Given the description of an element on the screen output the (x, y) to click on. 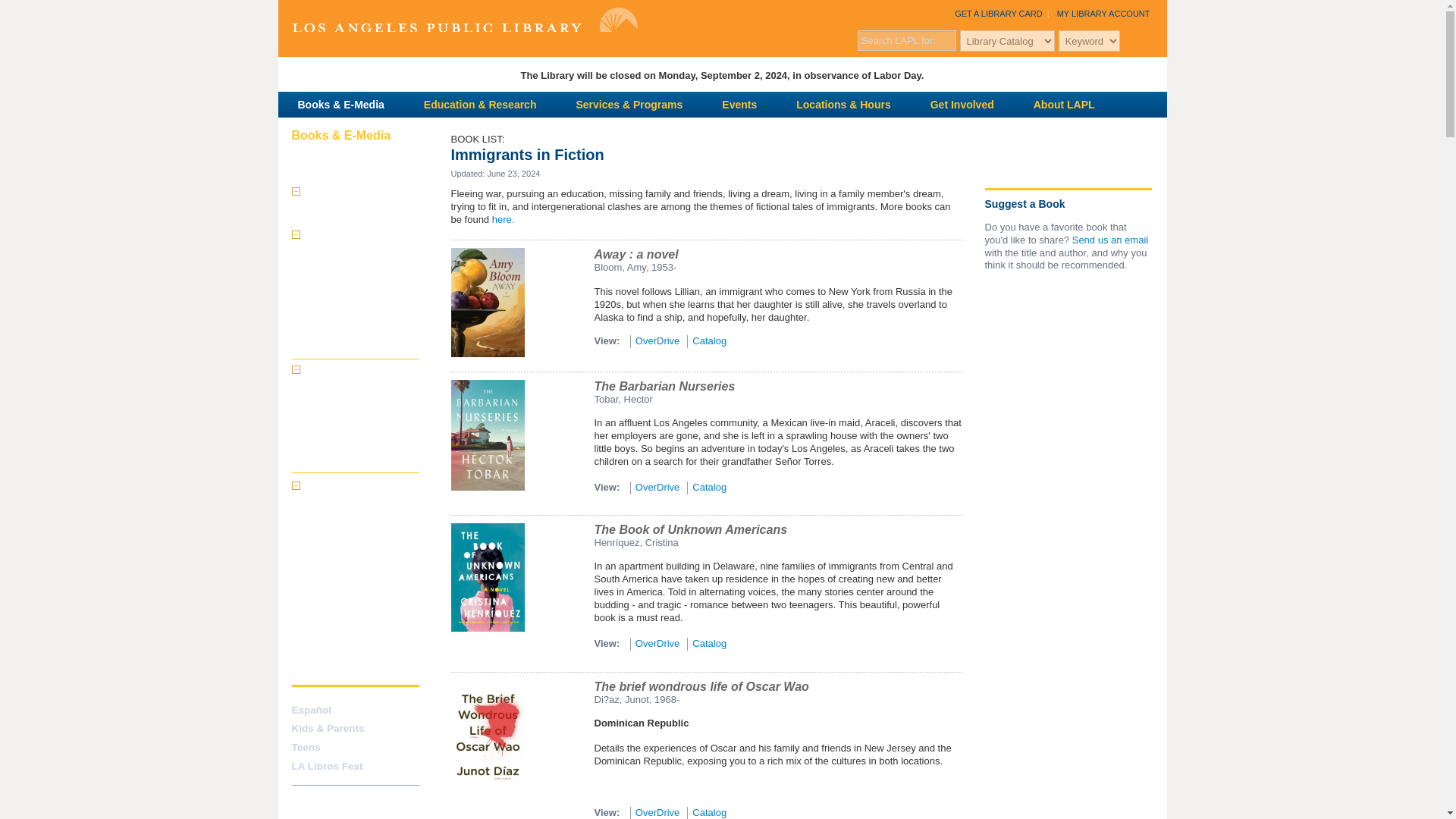
Los Angeles Public Library (464, 26)
Catalog (320, 191)
GET A LIBRARY CARD (998, 13)
My Library Account (1103, 13)
MY LIBRARY ACCOUNT (1103, 13)
Get a Library Card (998, 13)
Home (464, 26)
Find It (1150, 39)
Find It (1150, 39)
